Given the description of an element on the screen output the (x, y) to click on. 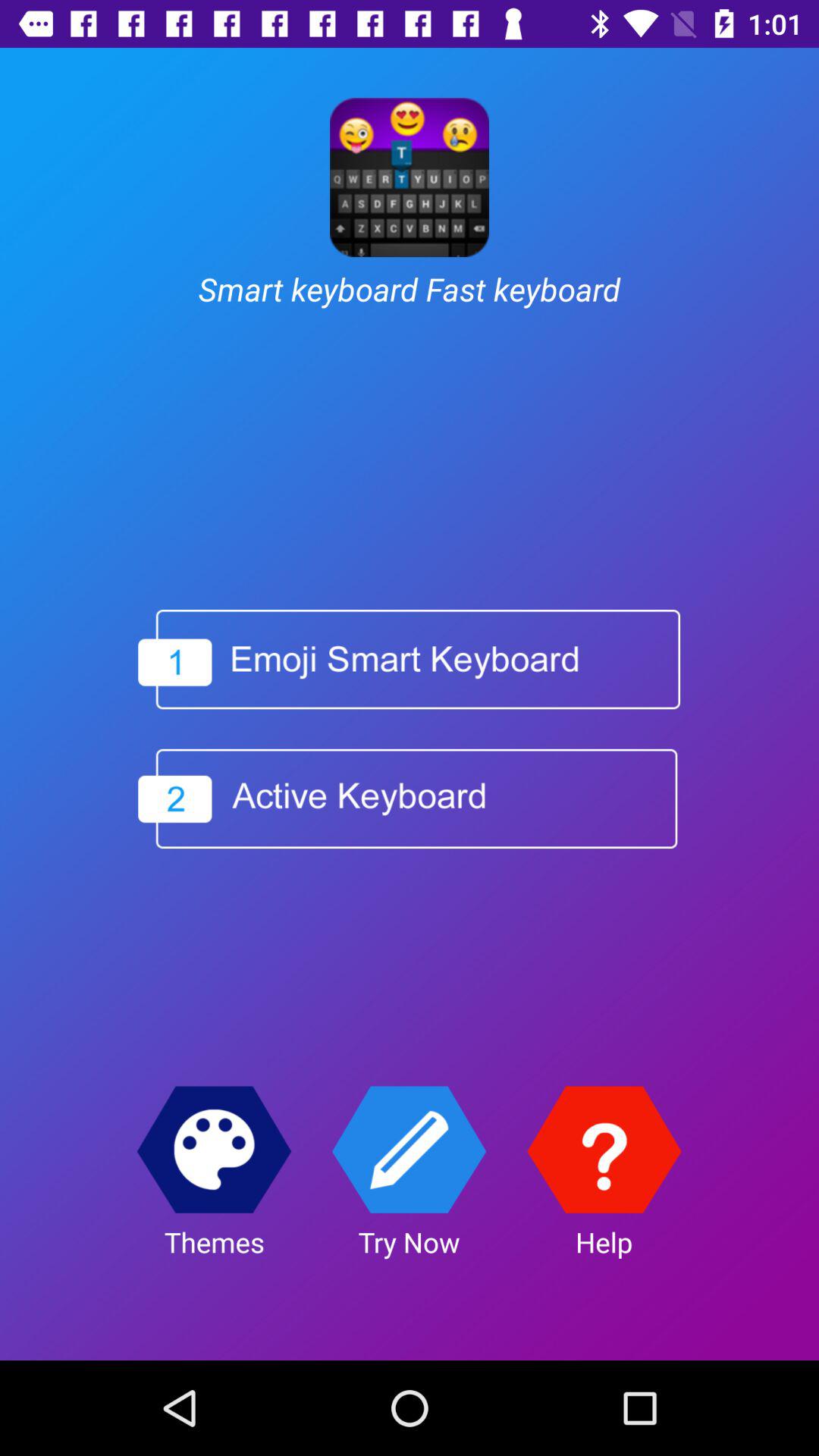
enable a different keyboard (409, 659)
